Given the description of an element on the screen output the (x, y) to click on. 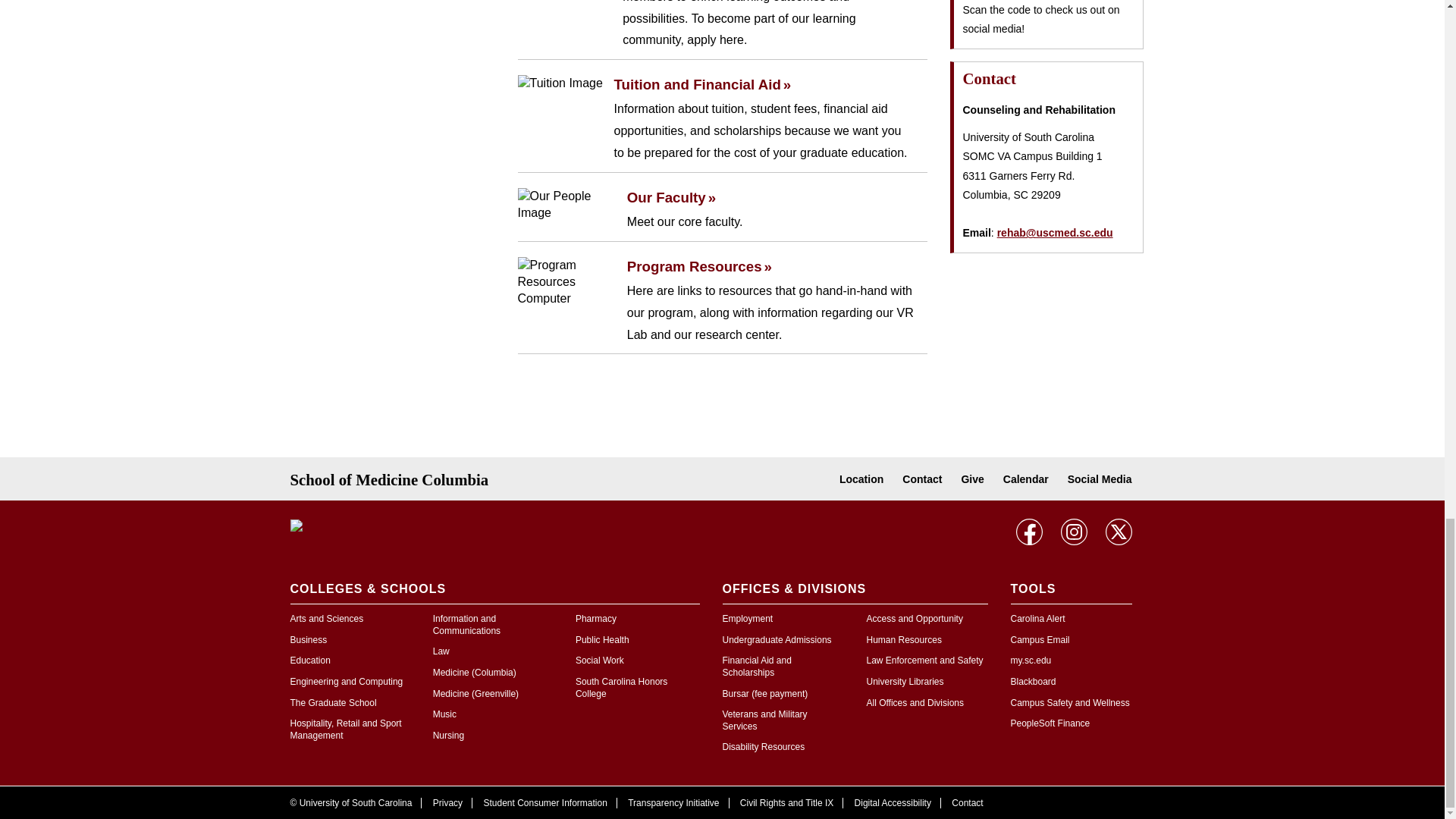
University of South Carolina (388, 526)
